Given the description of an element on the screen output the (x, y) to click on. 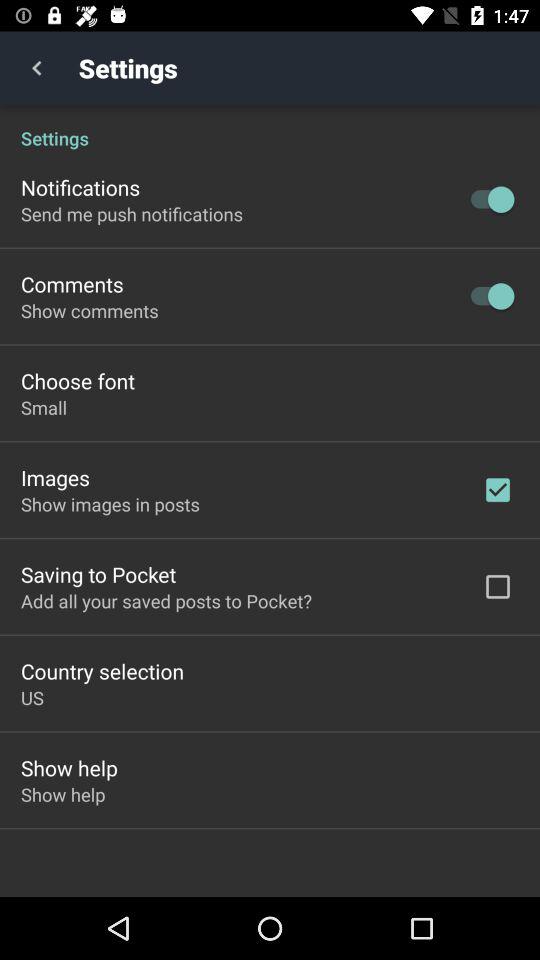
tap the send me push item (131, 213)
